Given the description of an element on the screen output the (x, y) to click on. 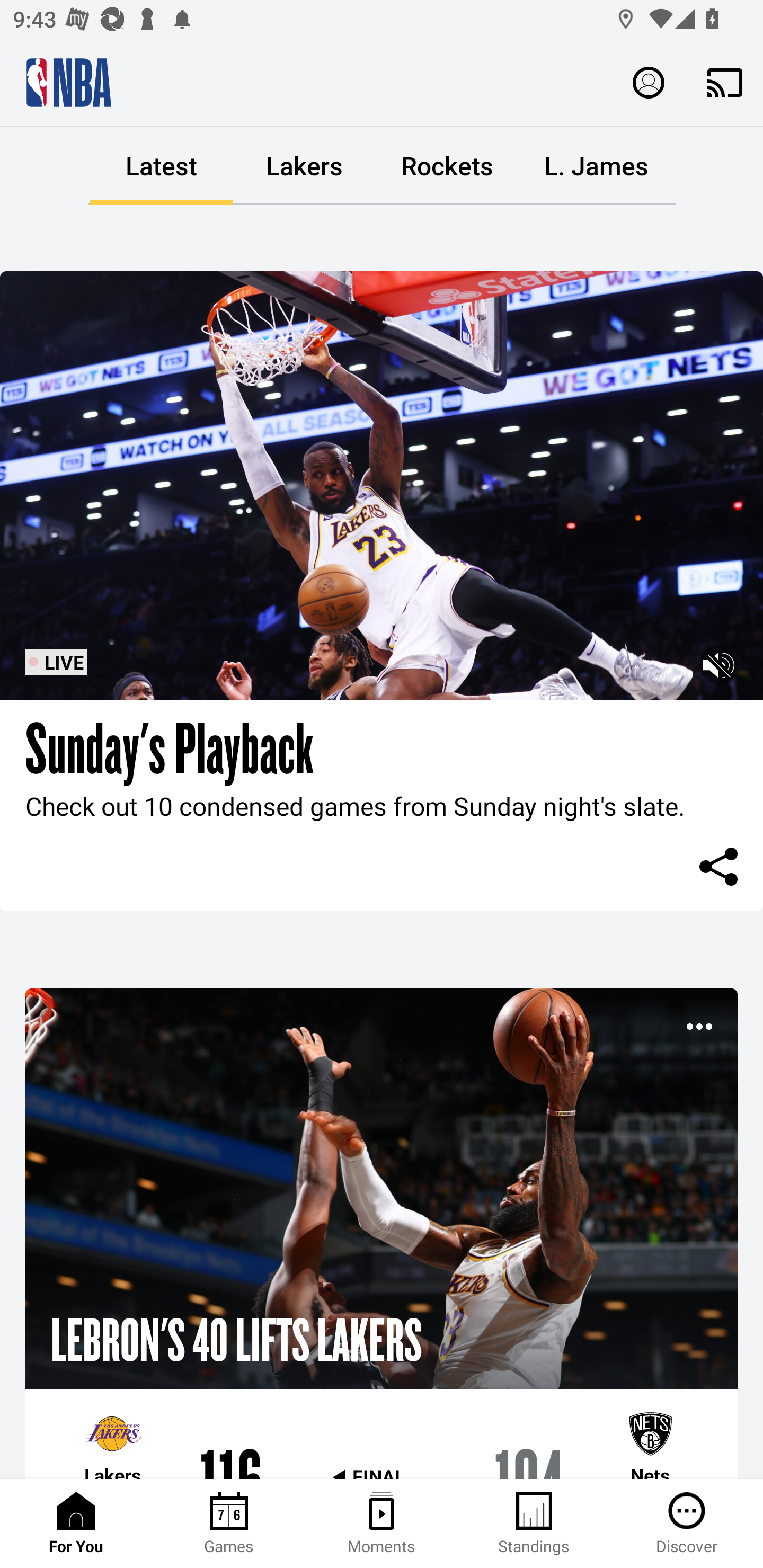
Cast. Disconnected (724, 82)
Profile (648, 81)
Lakers (303, 166)
Rockets (446, 166)
L. James (595, 166)
Games (228, 1523)
Moments (381, 1523)
Standings (533, 1523)
Discover (686, 1523)
